Given the description of an element on the screen output the (x, y) to click on. 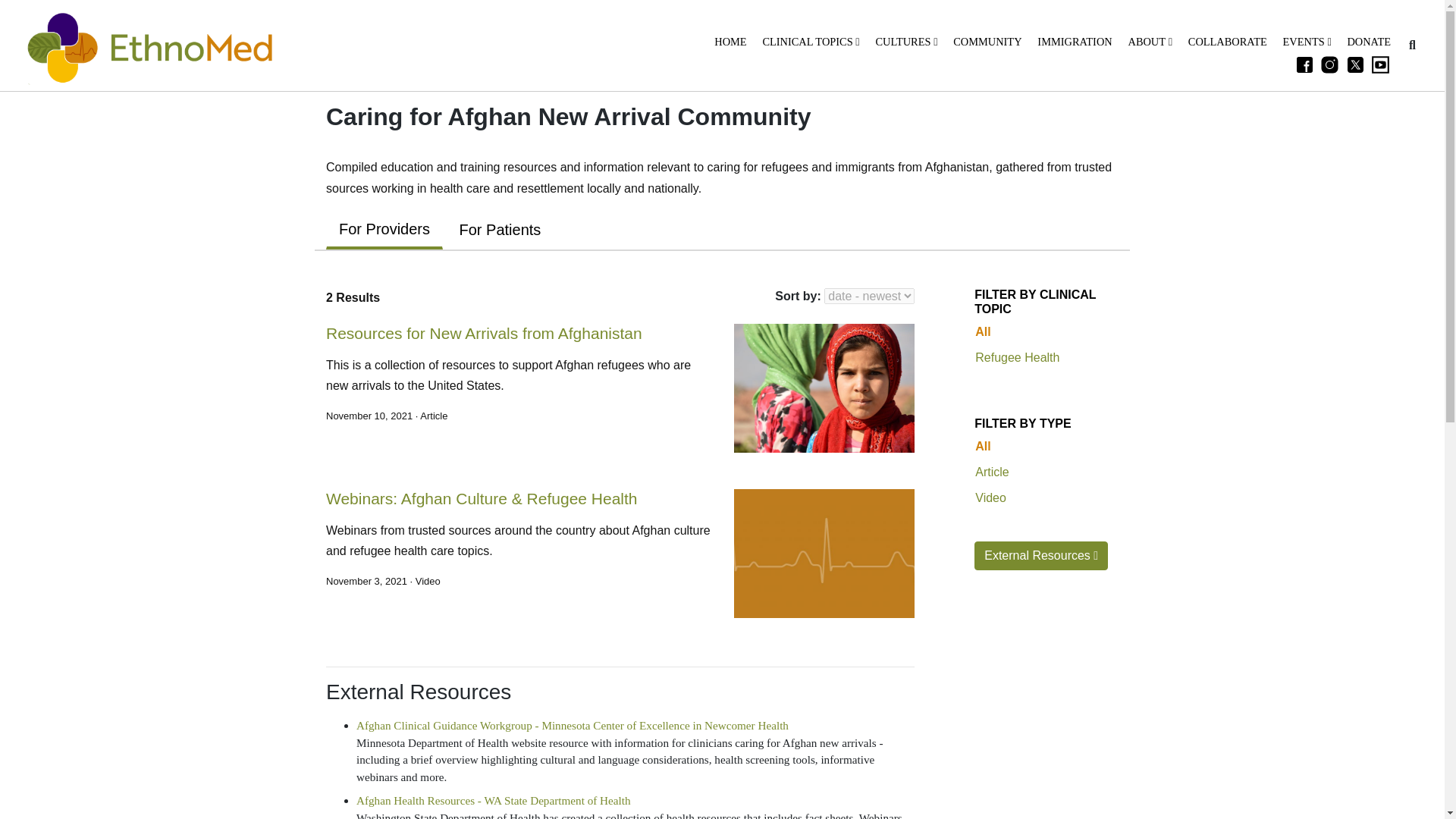
CLINICAL TOPICS (809, 41)
HOME (728, 41)
Clinical Topics (809, 41)
Home (728, 41)
CULTURES (904, 41)
